Given the description of an element on the screen output the (x, y) to click on. 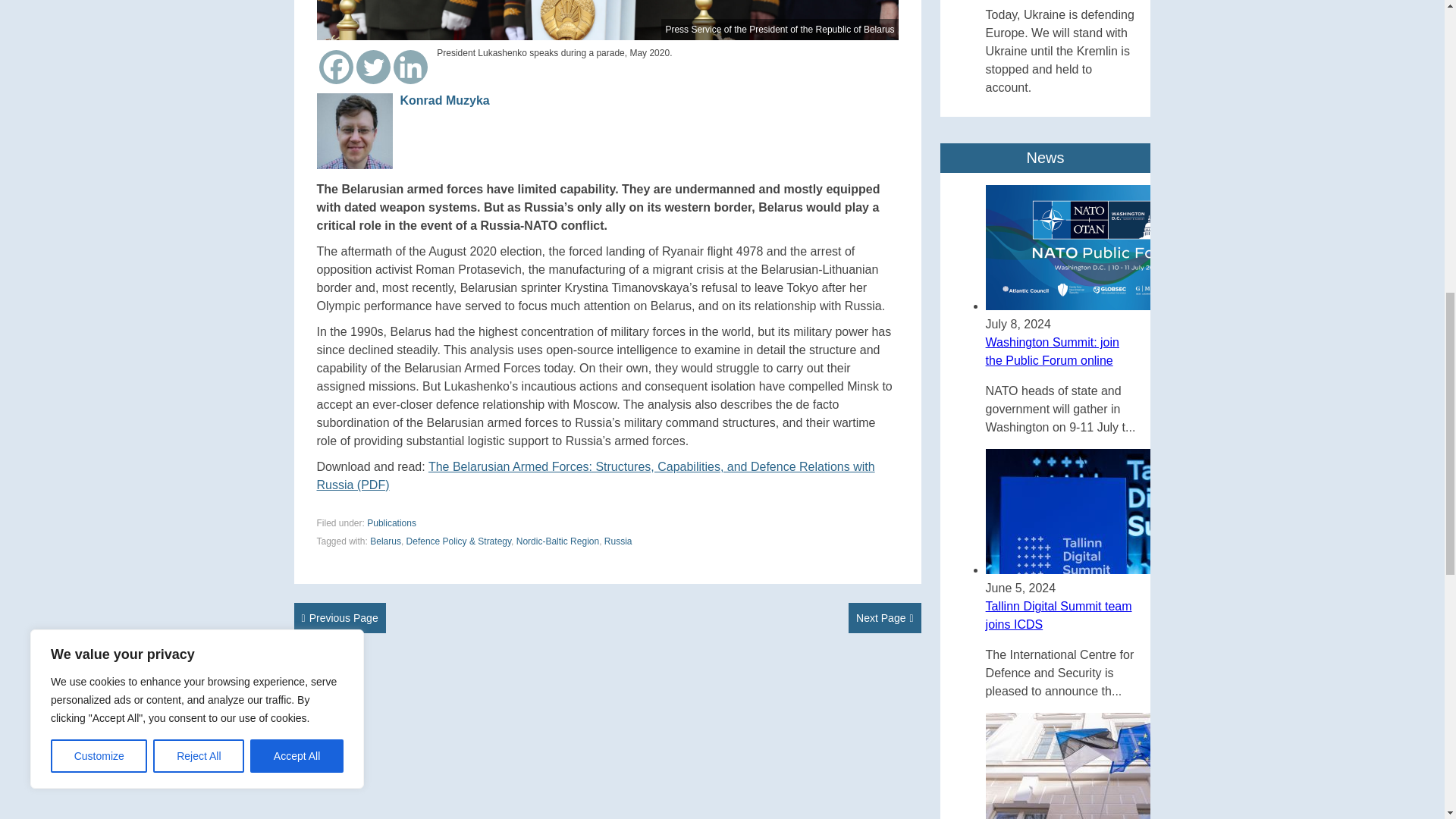
Twitter (373, 66)
Facebook (335, 66)
ICDS at Paide Opinion Festival on August 12-13 (884, 617)
Linkedin (410, 66)
